Given the description of an element on the screen output the (x, y) to click on. 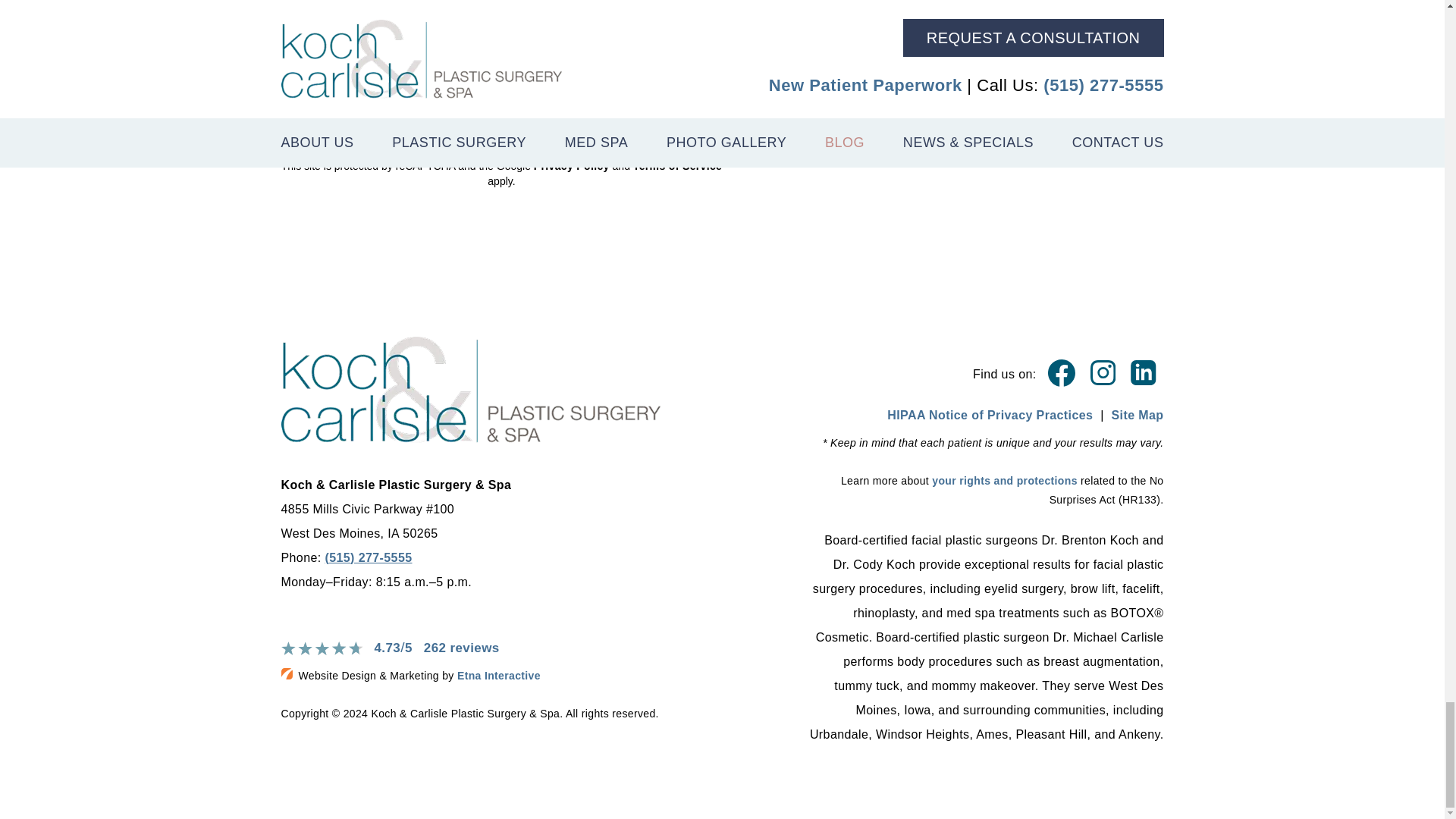
checked (288, 86)
checked (288, 63)
